Given the description of an element on the screen output the (x, y) to click on. 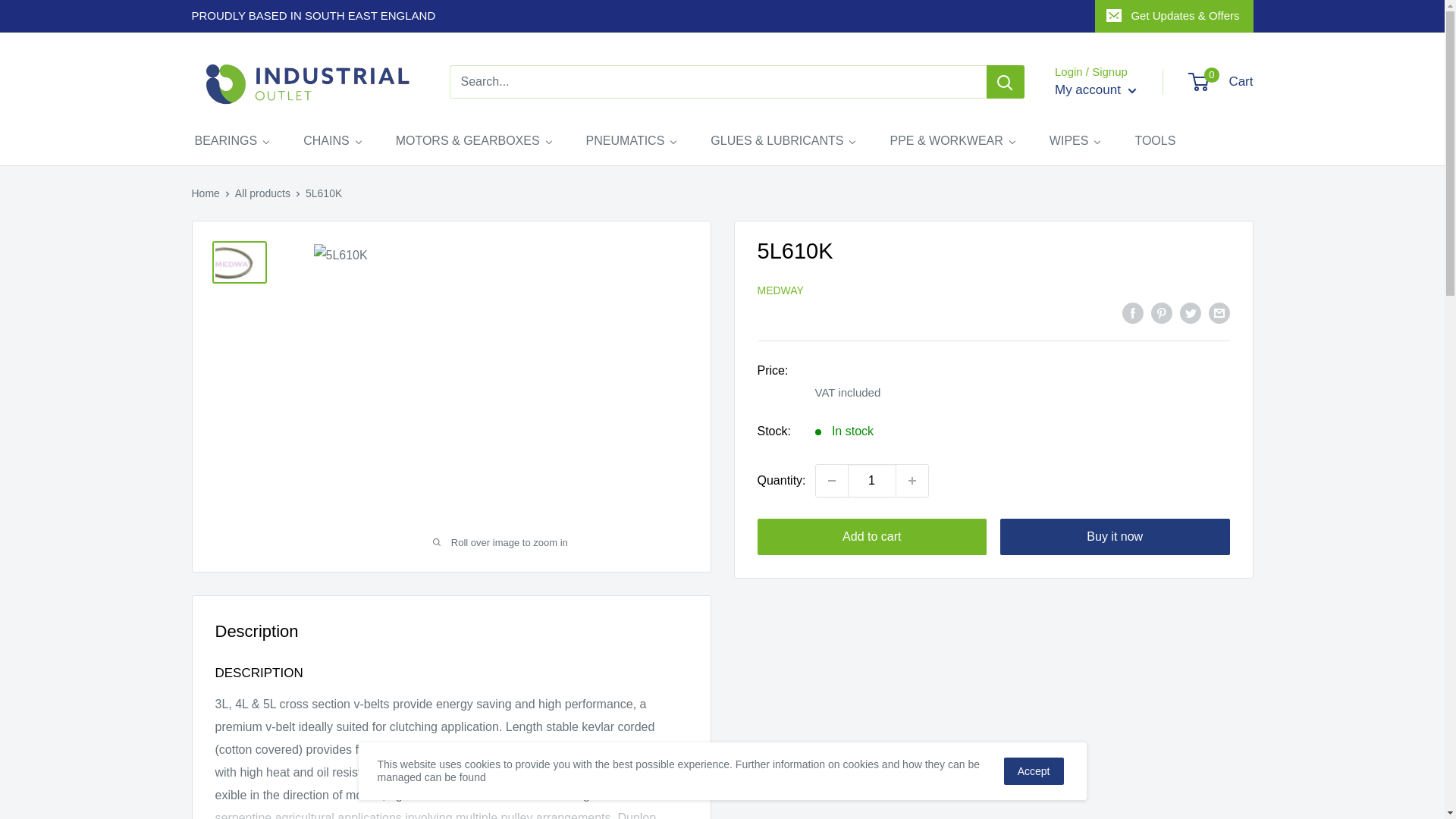
Increase quantity by 1 (912, 480)
1 (871, 480)
Decrease quantity by 1 (831, 480)
